Given the description of an element on the screen output the (x, y) to click on. 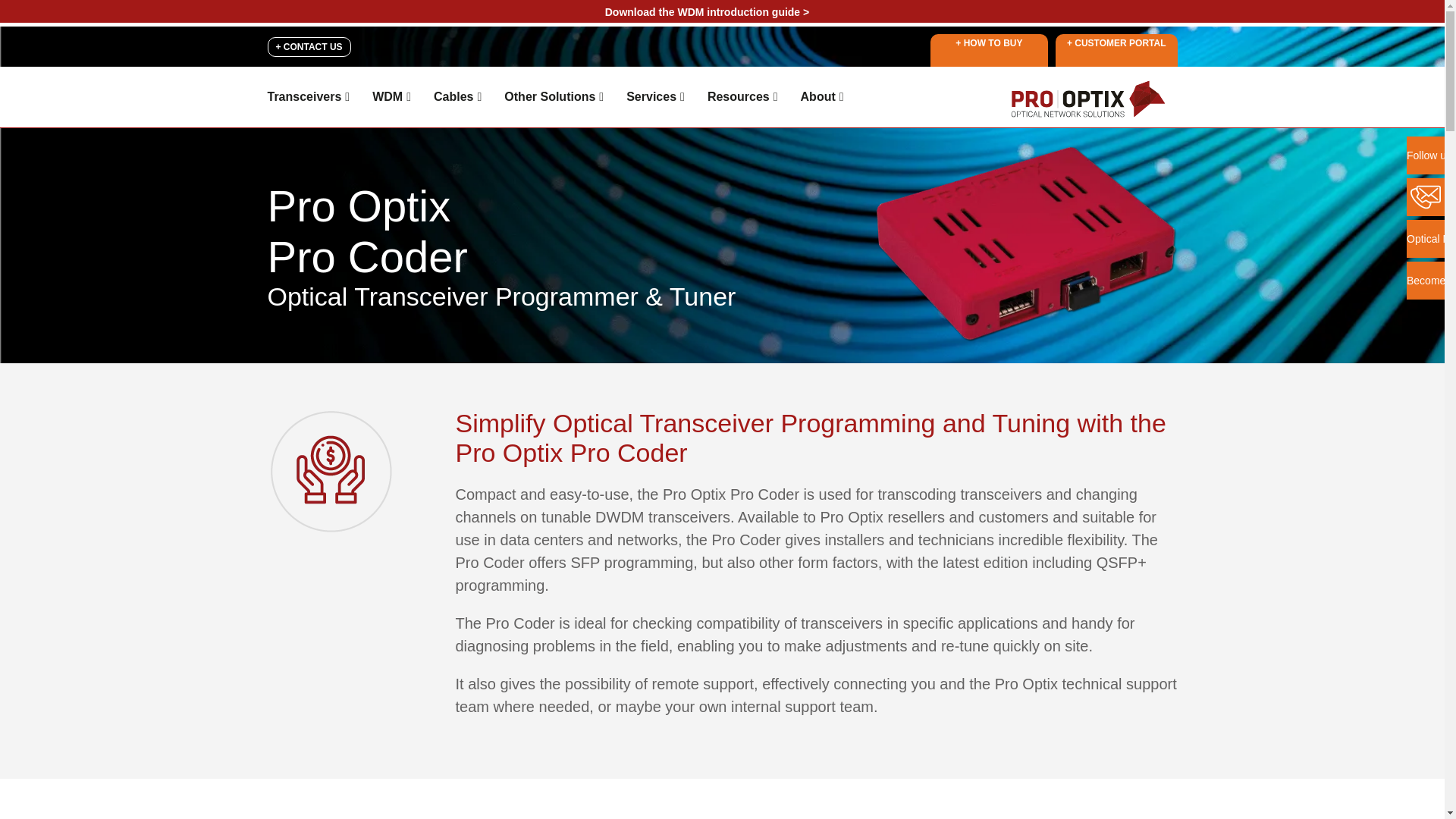
Transceivers (307, 96)
WDM Guide (707, 11)
